Given the description of an element on the screen output the (x, y) to click on. 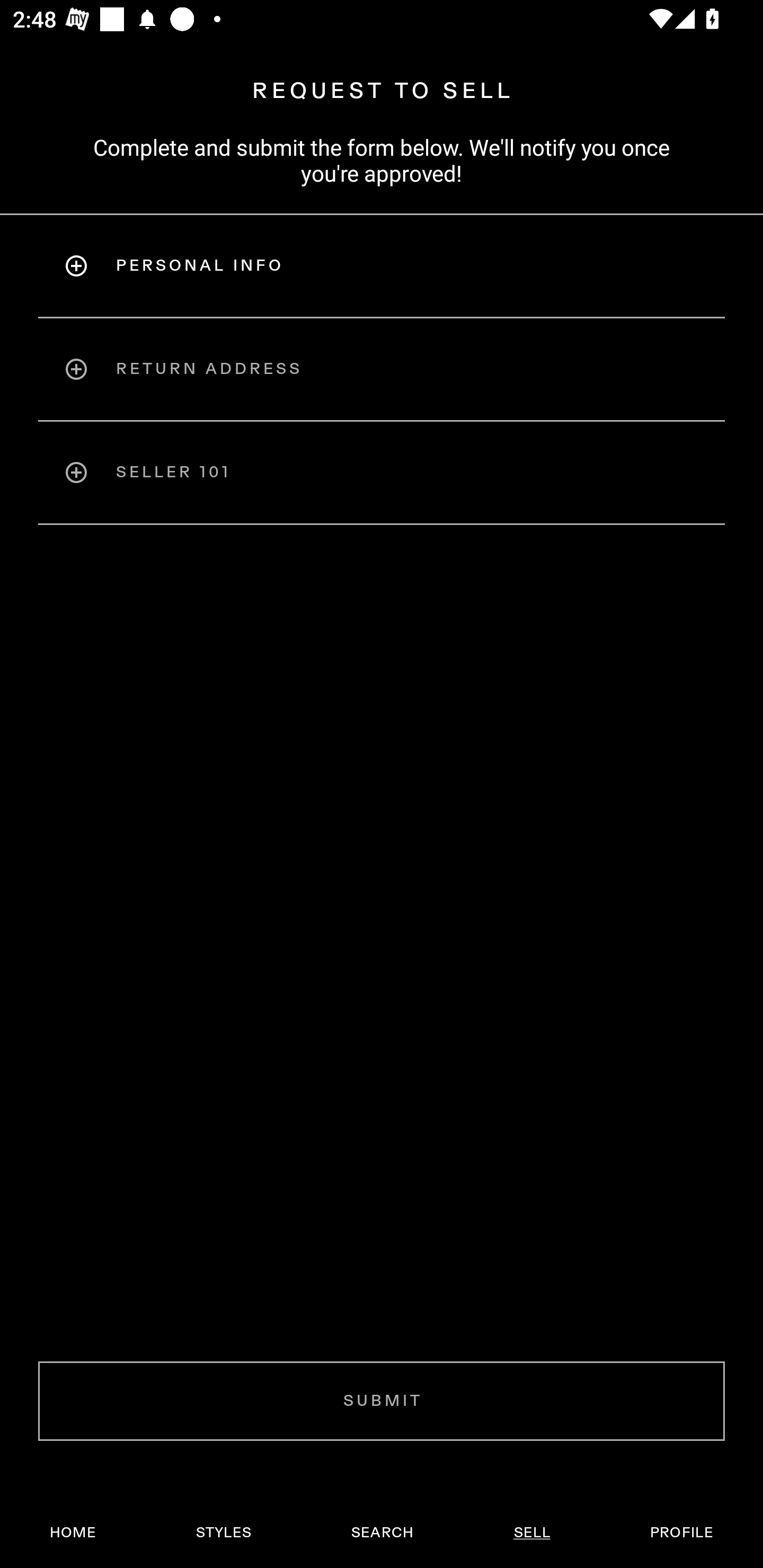
PERSONAL INFO (381, 265)
RETURN ADDRESS (381, 369)
SELLER 101 (381, 472)
SUBMIT (381, 1400)
HOME (72, 1532)
STYLES (222, 1532)
SEARCH (381, 1532)
SELL (531, 1532)
PROFILE (681, 1532)
